Given the description of an element on the screen output the (x, y) to click on. 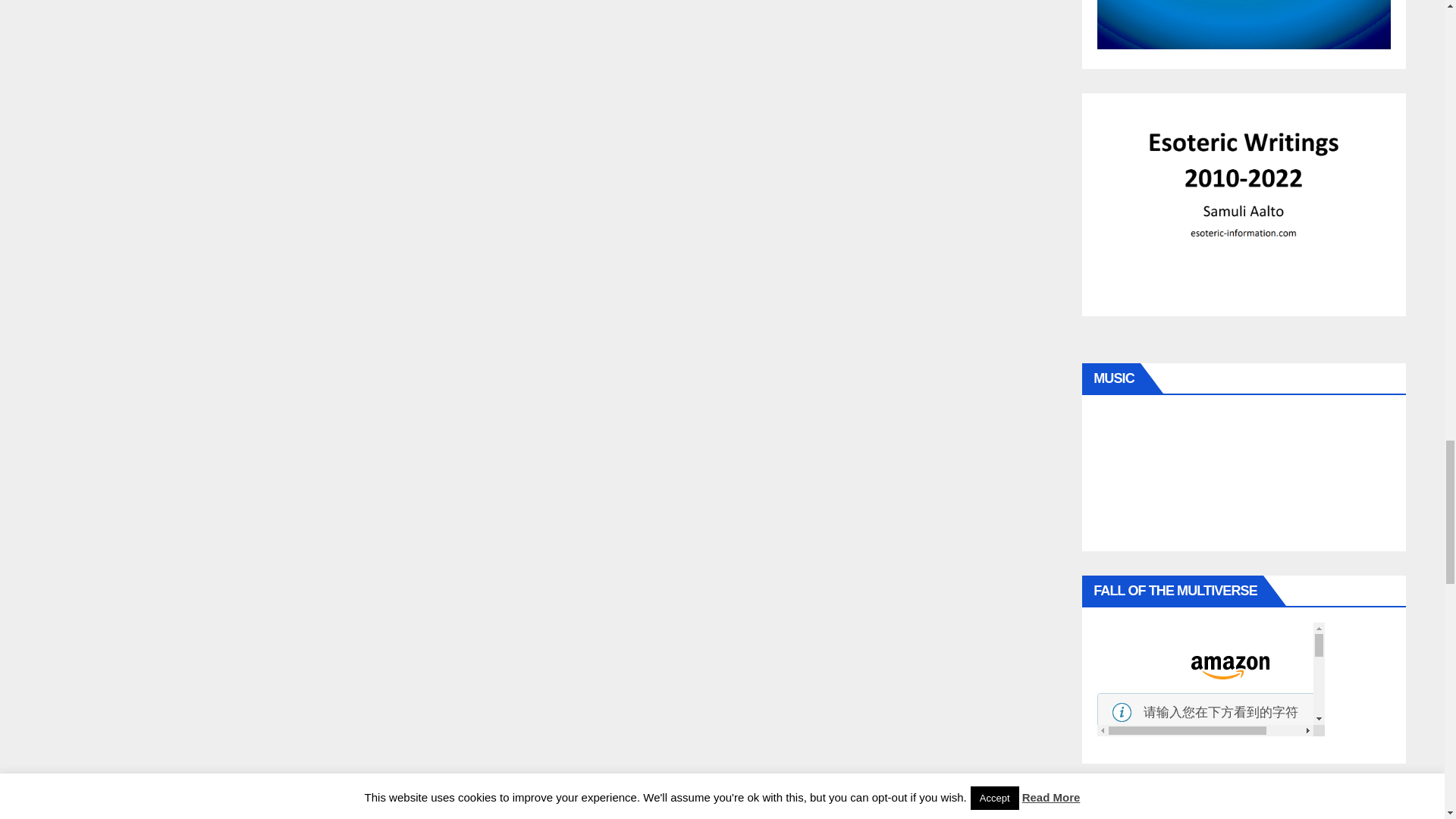
Fall of the Multiverse (1210, 679)
